Given the description of an element on the screen output the (x, y) to click on. 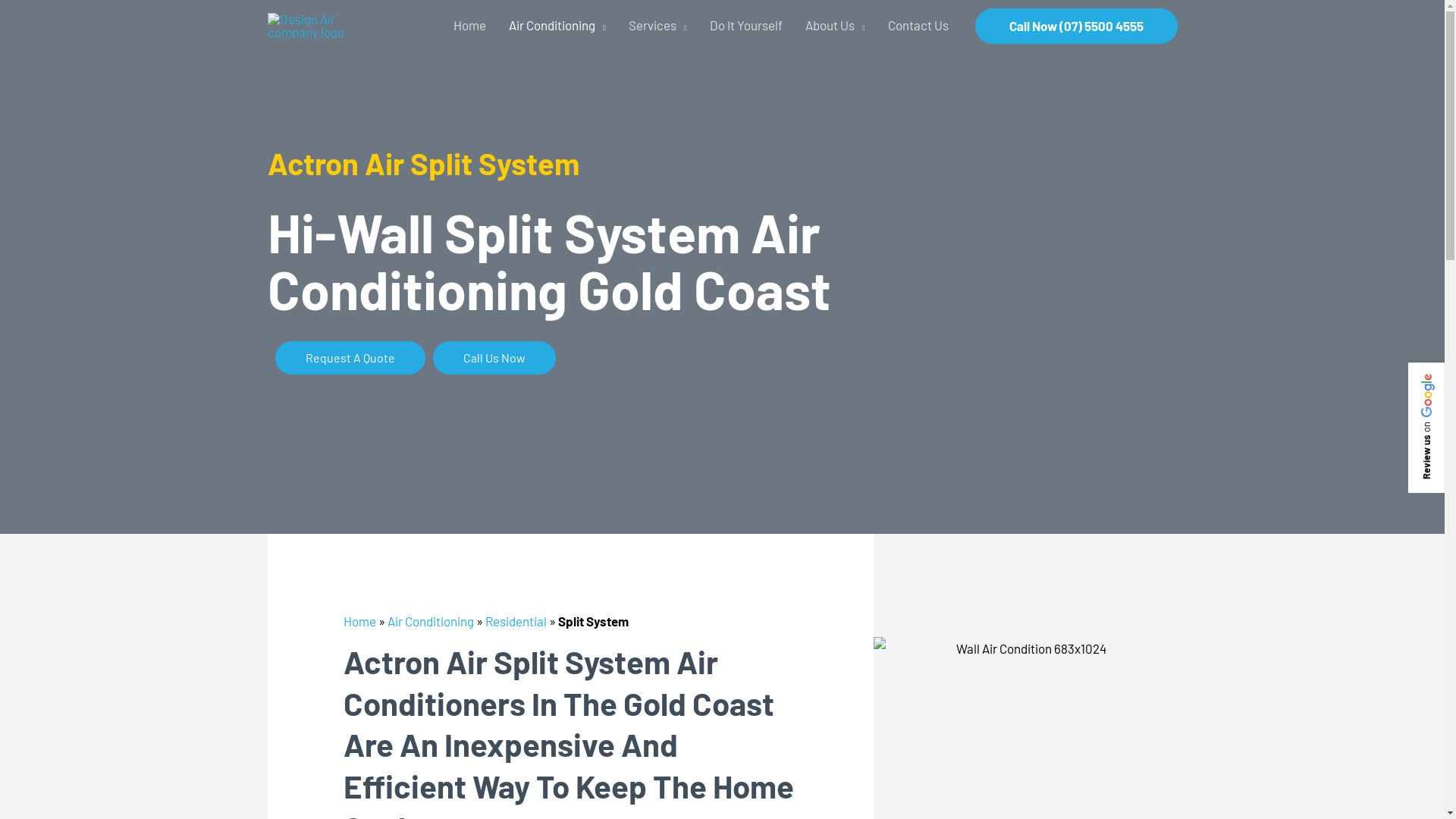
Air Conditioning Element type: text (557, 25)
About Us Element type: text (834, 25)
Home Element type: text (358, 620)
Home Element type: text (469, 25)
Services Element type: text (657, 25)
Call Us Now Element type: text (493, 357)
Air Conditioning Element type: text (429, 620)
Call Now (07) 5500 4555 Element type: text (1076, 25)
Request A Quote Element type: text (349, 357)
Do It Yourself Element type: text (745, 25)
Contact Us Element type: text (918, 25)
Residential Element type: text (515, 620)
